Given the description of an element on the screen output the (x, y) to click on. 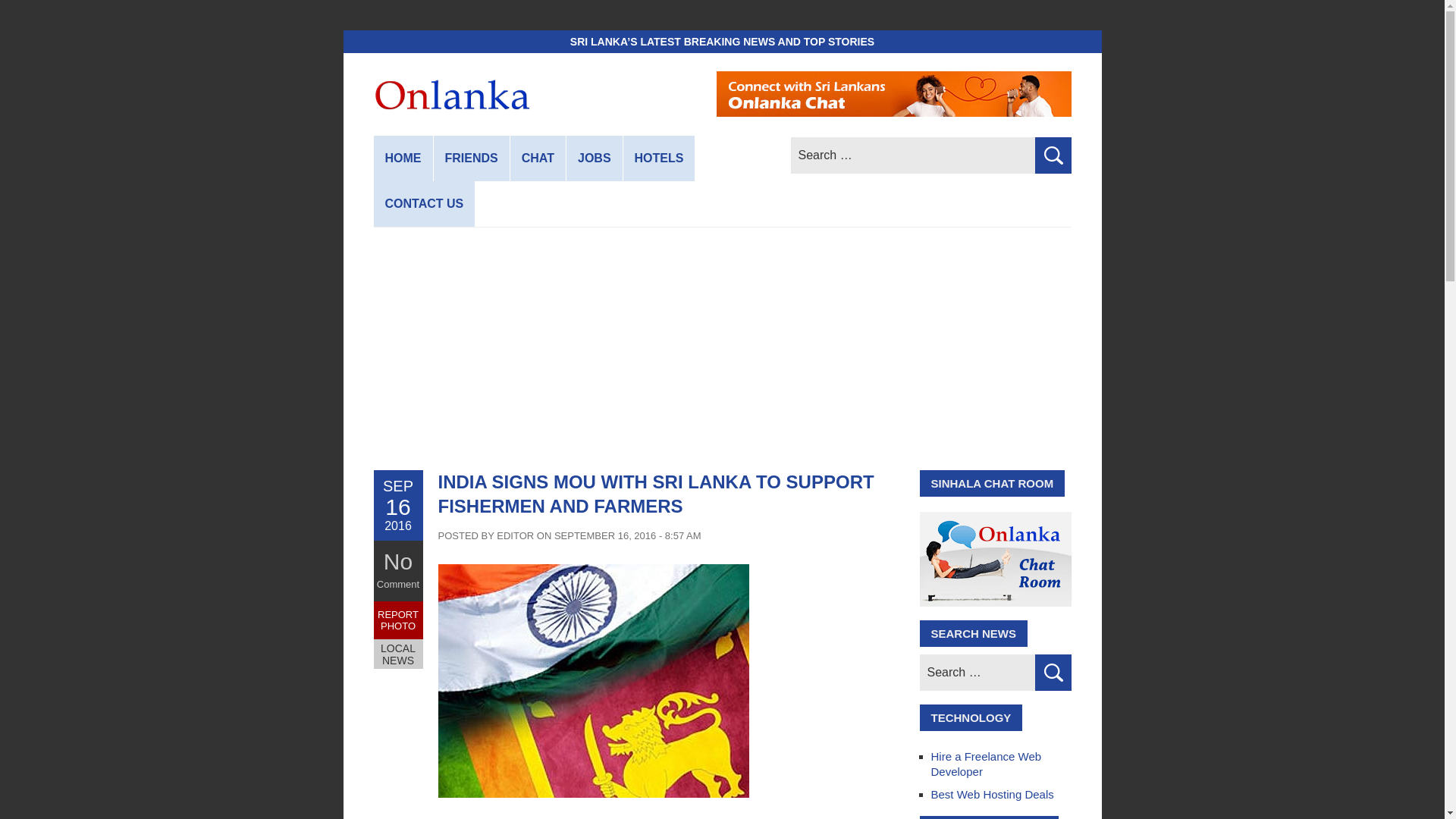
Sri Lanka friends community (471, 157)
Search (1051, 155)
Search (1051, 672)
Best Web Hosting Deals (992, 793)
Home page (402, 157)
HOME (402, 157)
CONTACT US (423, 203)
Search (1051, 155)
FRIENDS (471, 157)
